Given the description of an element on the screen output the (x, y) to click on. 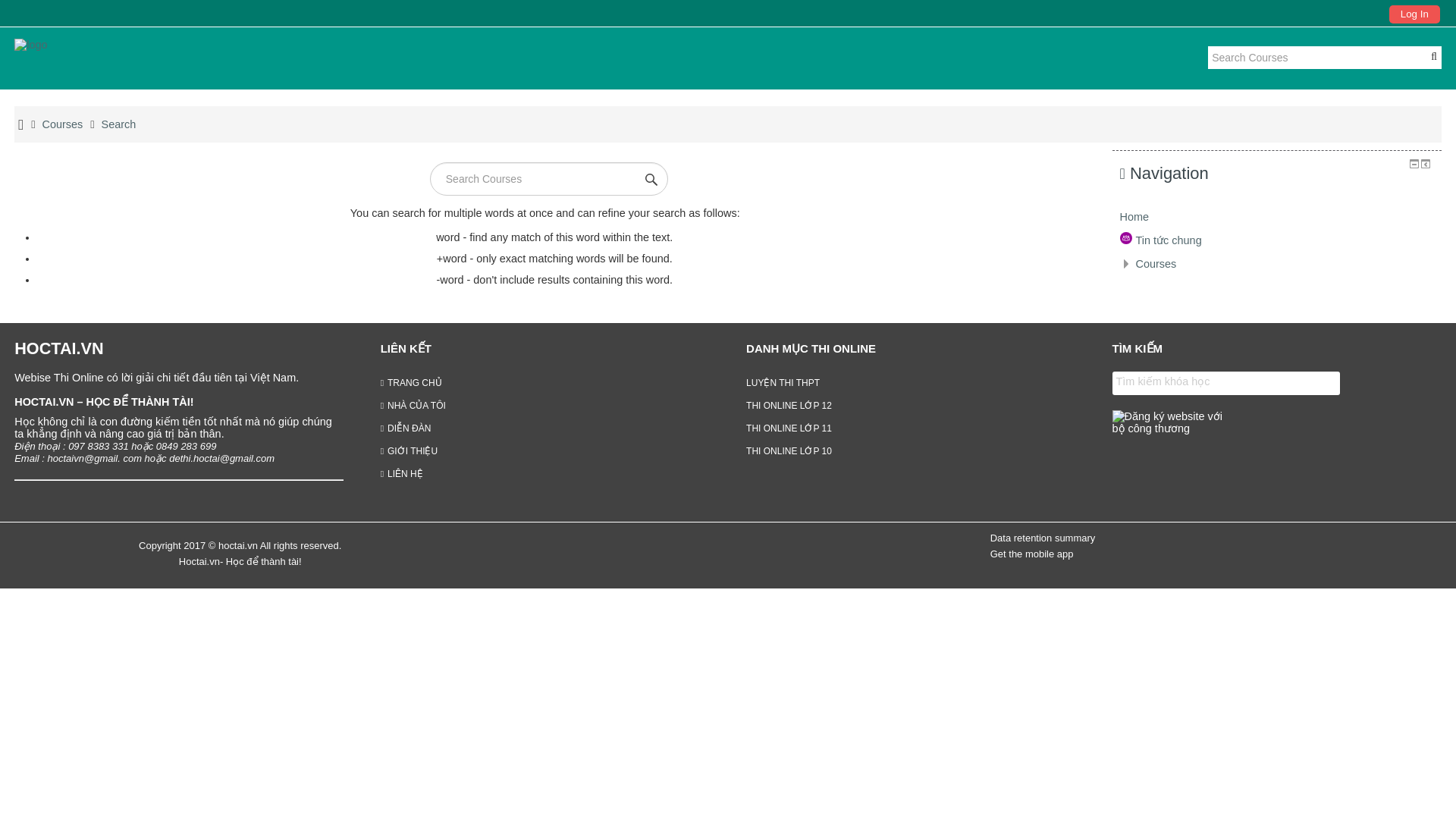
Get the mobile app (1032, 553)
Log In (1414, 13)
Data retention summary (1043, 537)
097 8383 331 (98, 446)
Forum (1160, 240)
Go (649, 179)
0849 283 699 (185, 446)
Search (118, 123)
Forum (1125, 237)
Dock Navigation block (1425, 163)
Home (1134, 216)
Hide Navigation block (1413, 163)
Courses (1155, 263)
Courses (62, 123)
hoctai.vn (178, 348)
